Given the description of an element on the screen output the (x, y) to click on. 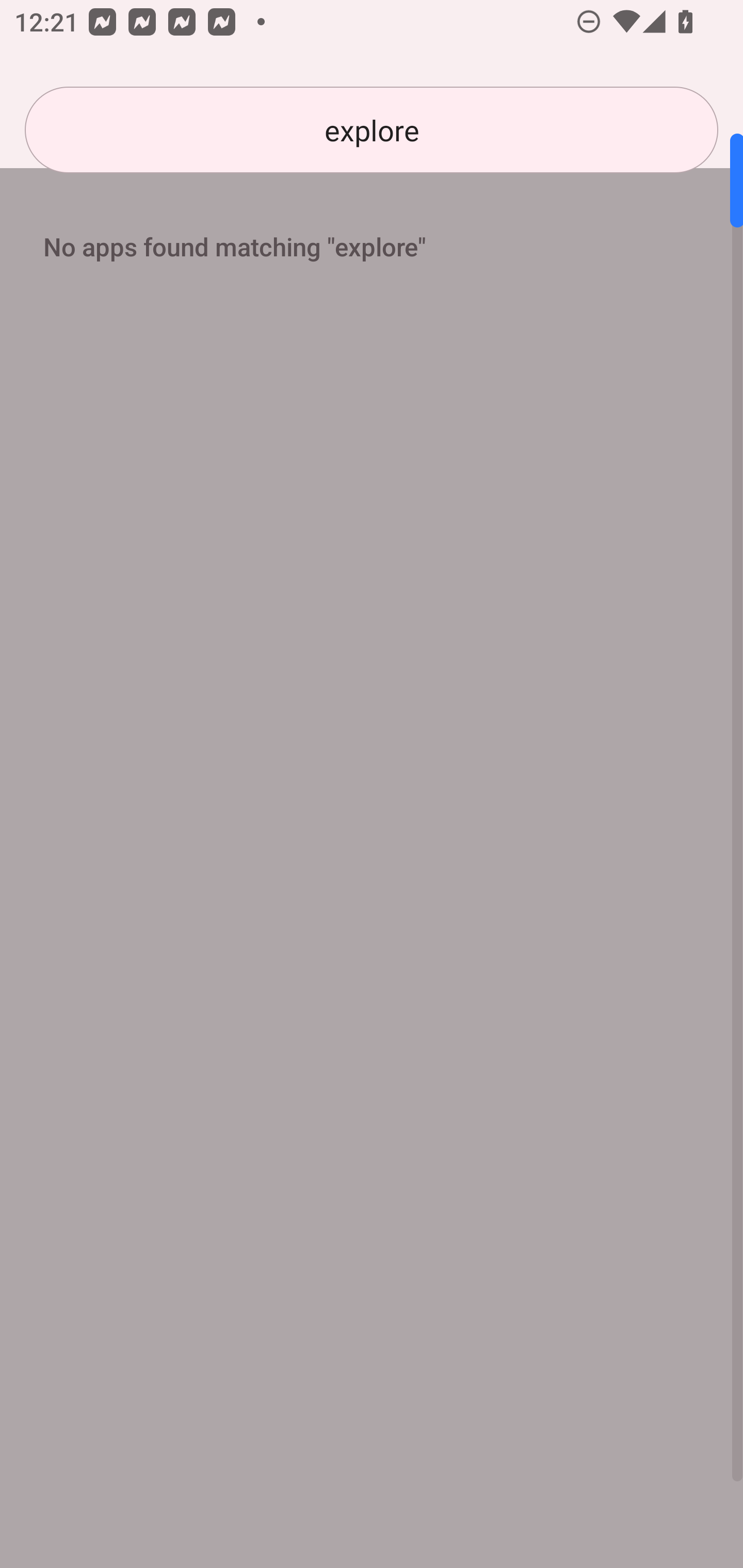
explore (371, 130)
